Given the description of an element on the screen output the (x, y) to click on. 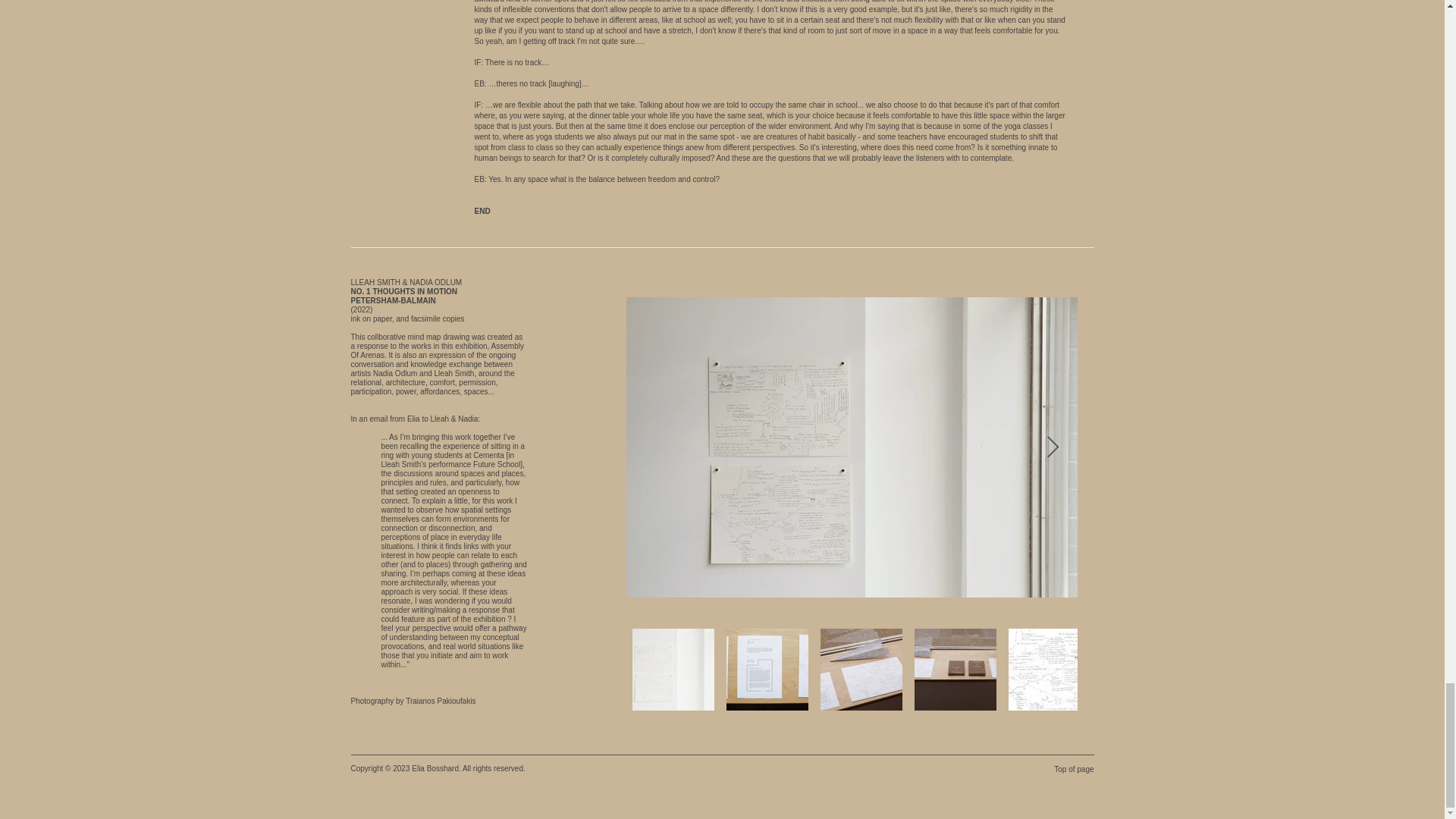
Top of page (1071, 769)
Lleah Smith (453, 373)
Nadia Odlum (394, 373)
